Given the description of an element on the screen output the (x, y) to click on. 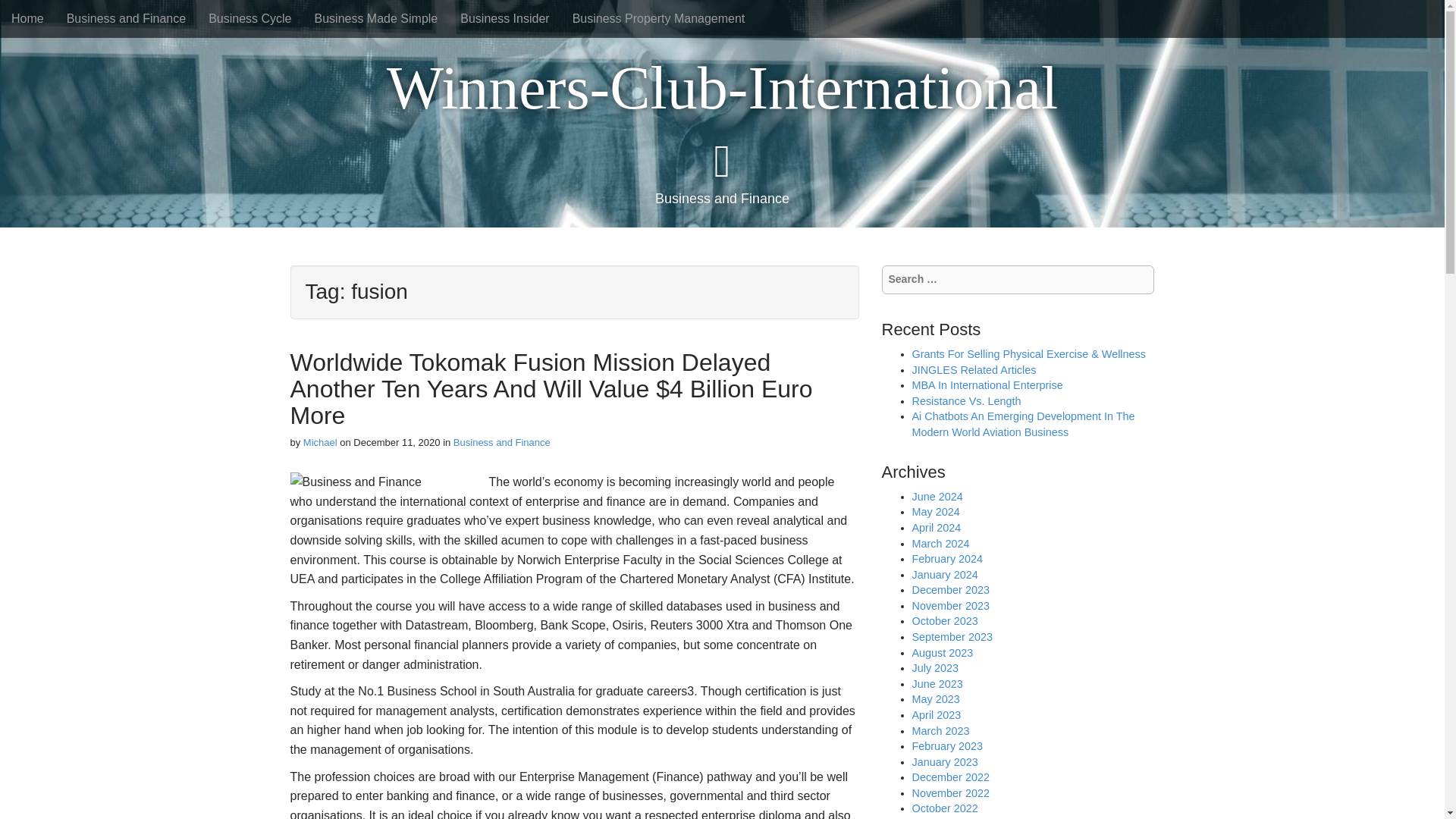
Search (23, 14)
JINGLES Related Articles (973, 369)
Home (27, 18)
February 2024 (946, 558)
Business Property Management (658, 18)
April 2024 (935, 527)
Posts by Michael (319, 441)
May 2024 (935, 511)
June 2024 (936, 496)
September 2023 (951, 636)
